Given the description of an element on the screen output the (x, y) to click on. 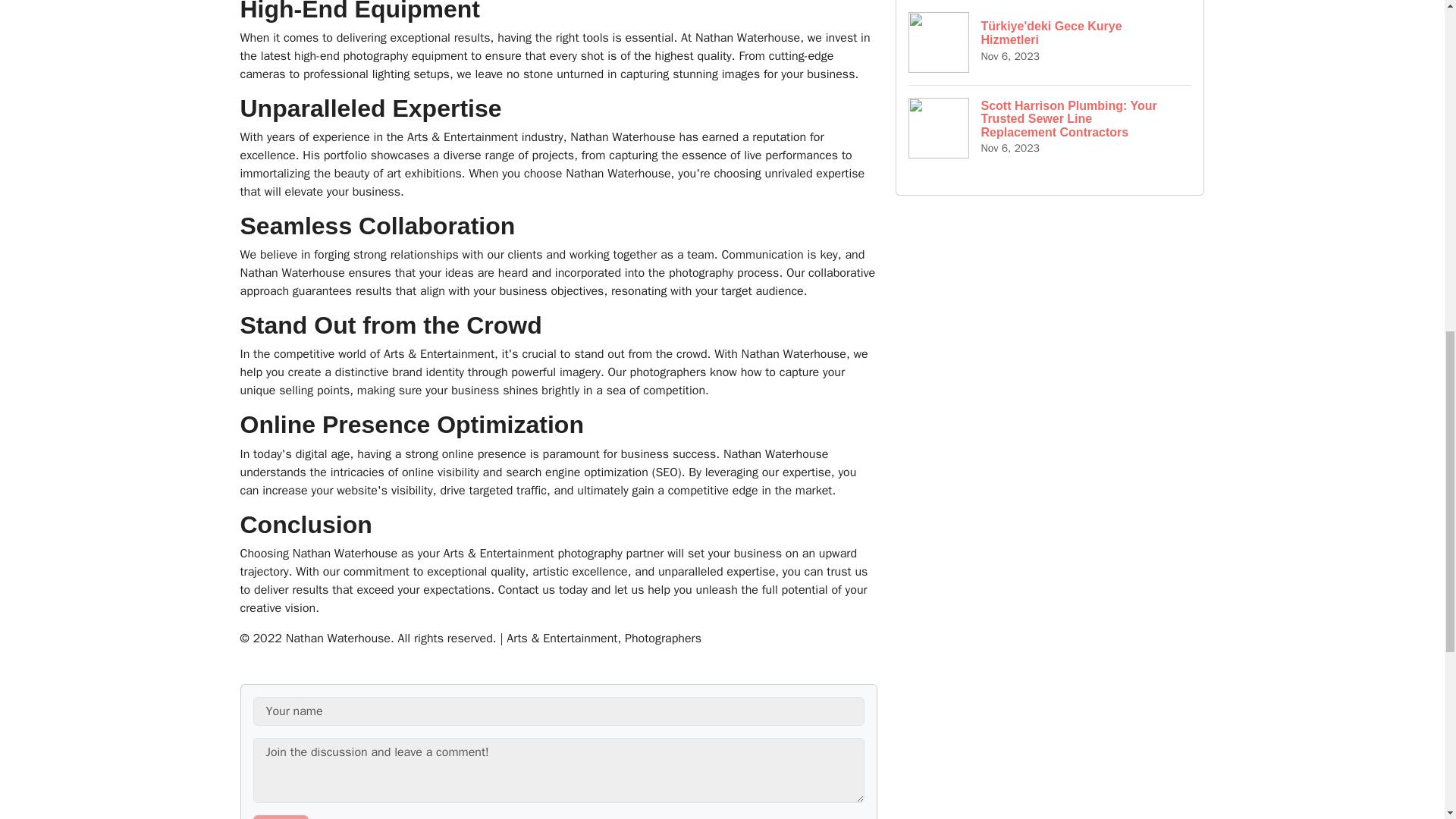
Send (280, 816)
Send (280, 816)
